Given the description of an element on the screen output the (x, y) to click on. 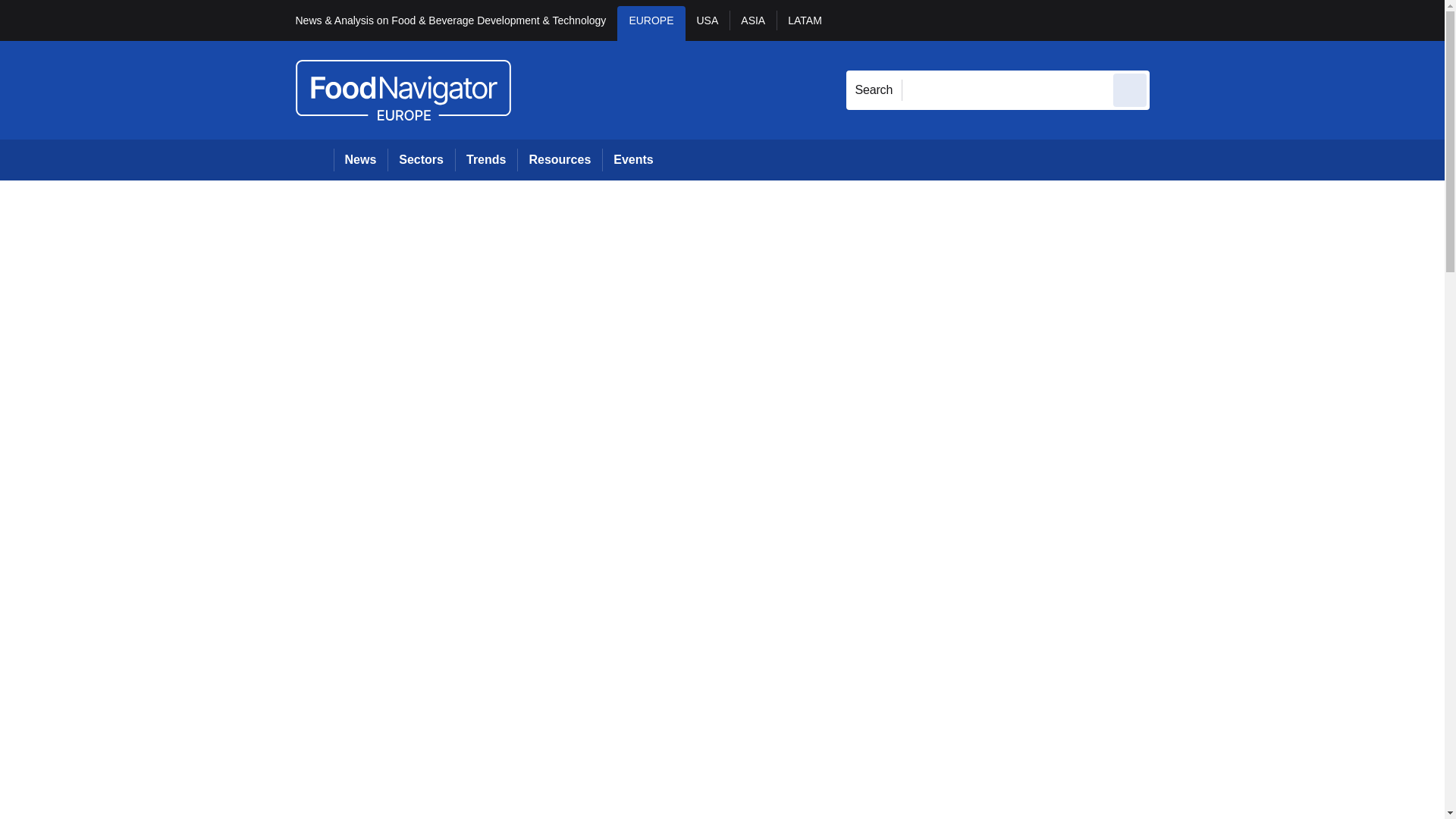
EUROPE (650, 22)
FoodNavigator Europe (403, 89)
Send (1129, 89)
Sign in (1171, 20)
My account (1256, 20)
ASIA (752, 22)
Sign out (1174, 20)
News (360, 159)
LATAM (804, 22)
USA (707, 22)
